Given the description of an element on the screen output the (x, y) to click on. 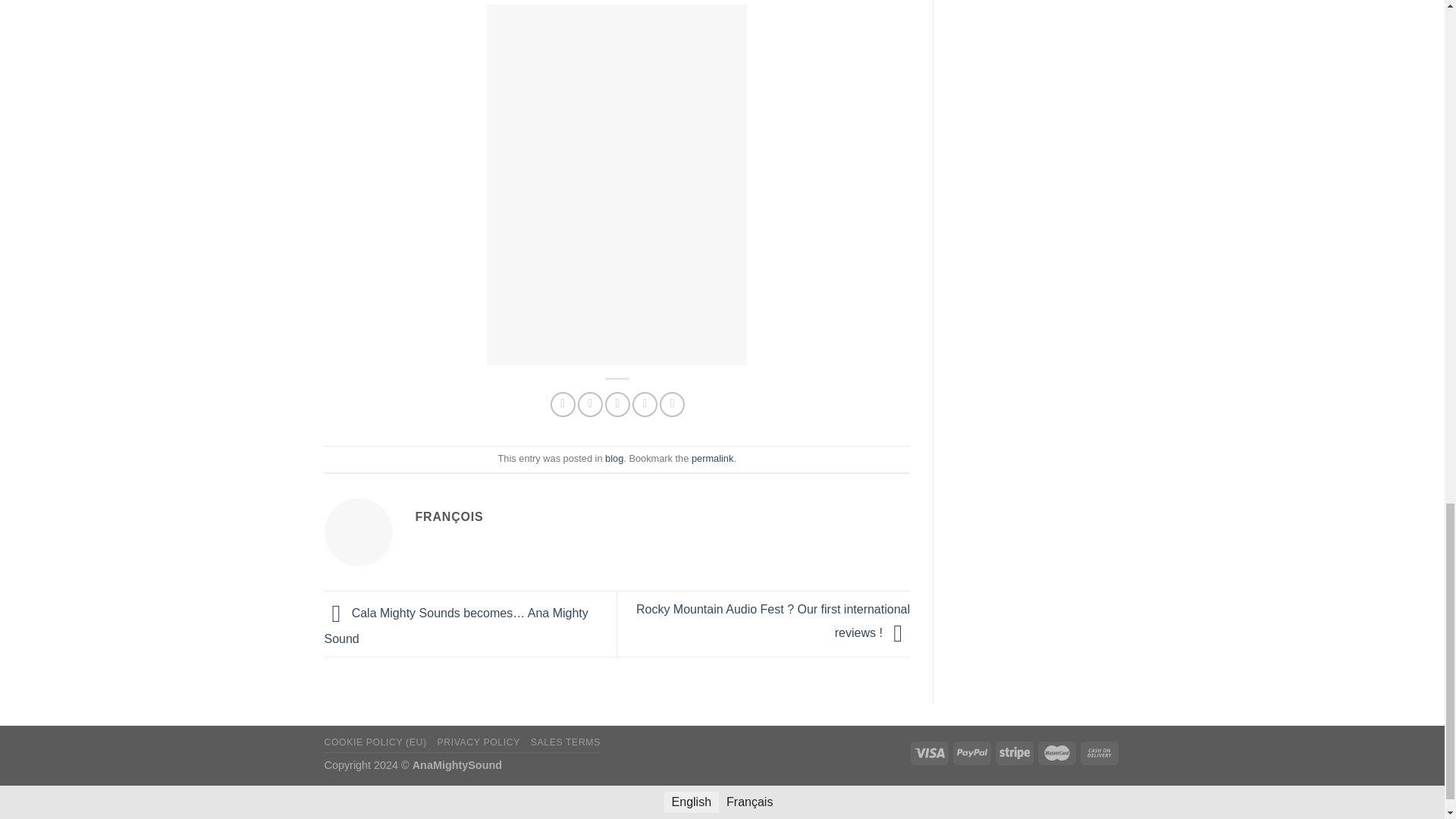
Share on Twitter (590, 404)
Pin on Pinterest (644, 404)
Share on Facebook (562, 404)
blog (614, 458)
Share on LinkedIn (671, 404)
permalink (712, 458)
Email to a Friend (617, 404)
